Given the description of an element on the screen output the (x, y) to click on. 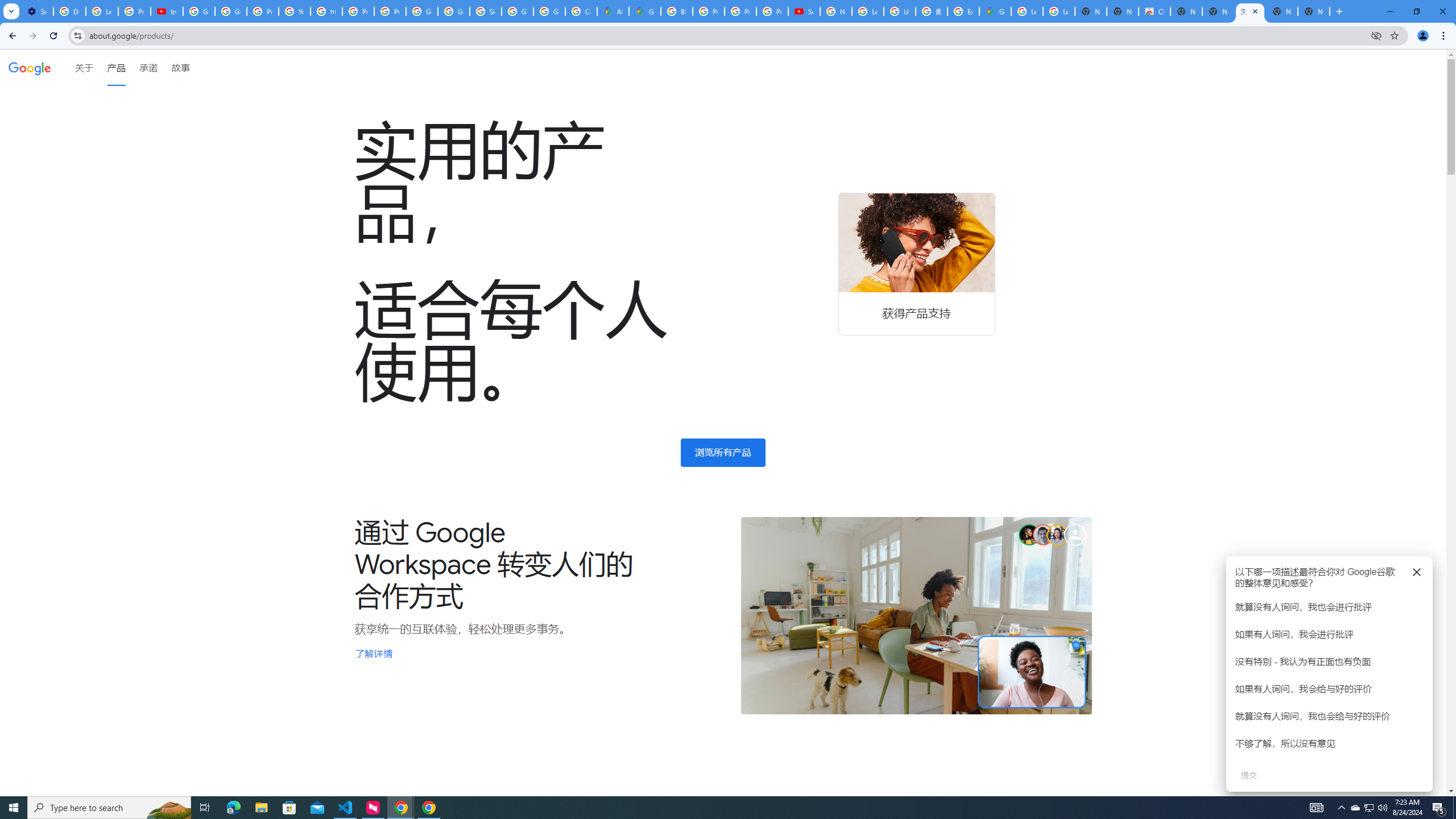
Privacy Help Center - Policies Help (262, 11)
Explore new street-level details - Google Maps Help (963, 11)
